Given the description of an element on the screen output the (x, y) to click on. 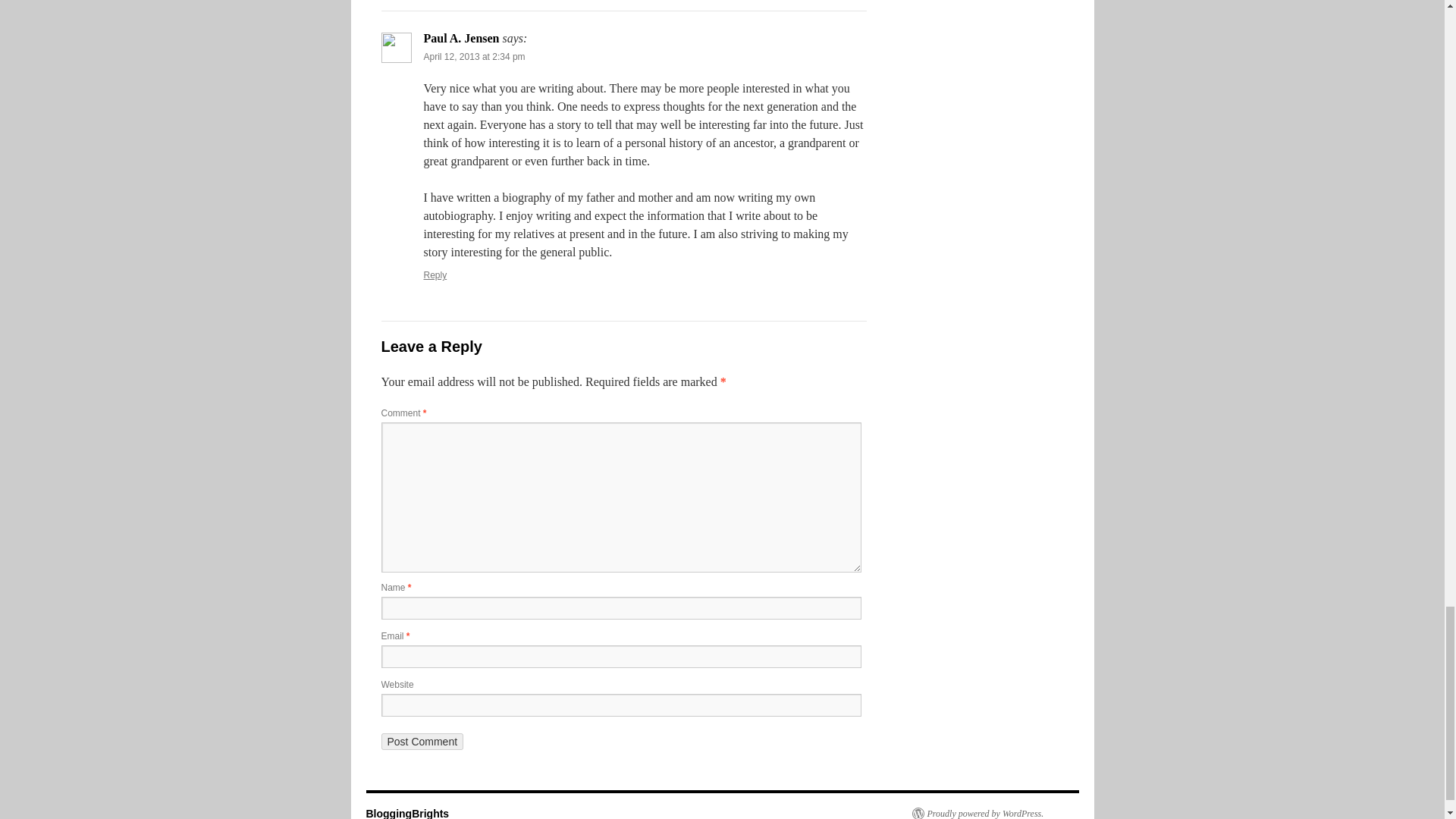
Post Comment (421, 741)
April 12, 2013 at 2:34 pm (473, 56)
Reply (434, 275)
Post Comment (421, 741)
